Given the description of an element on the screen output the (x, y) to click on. 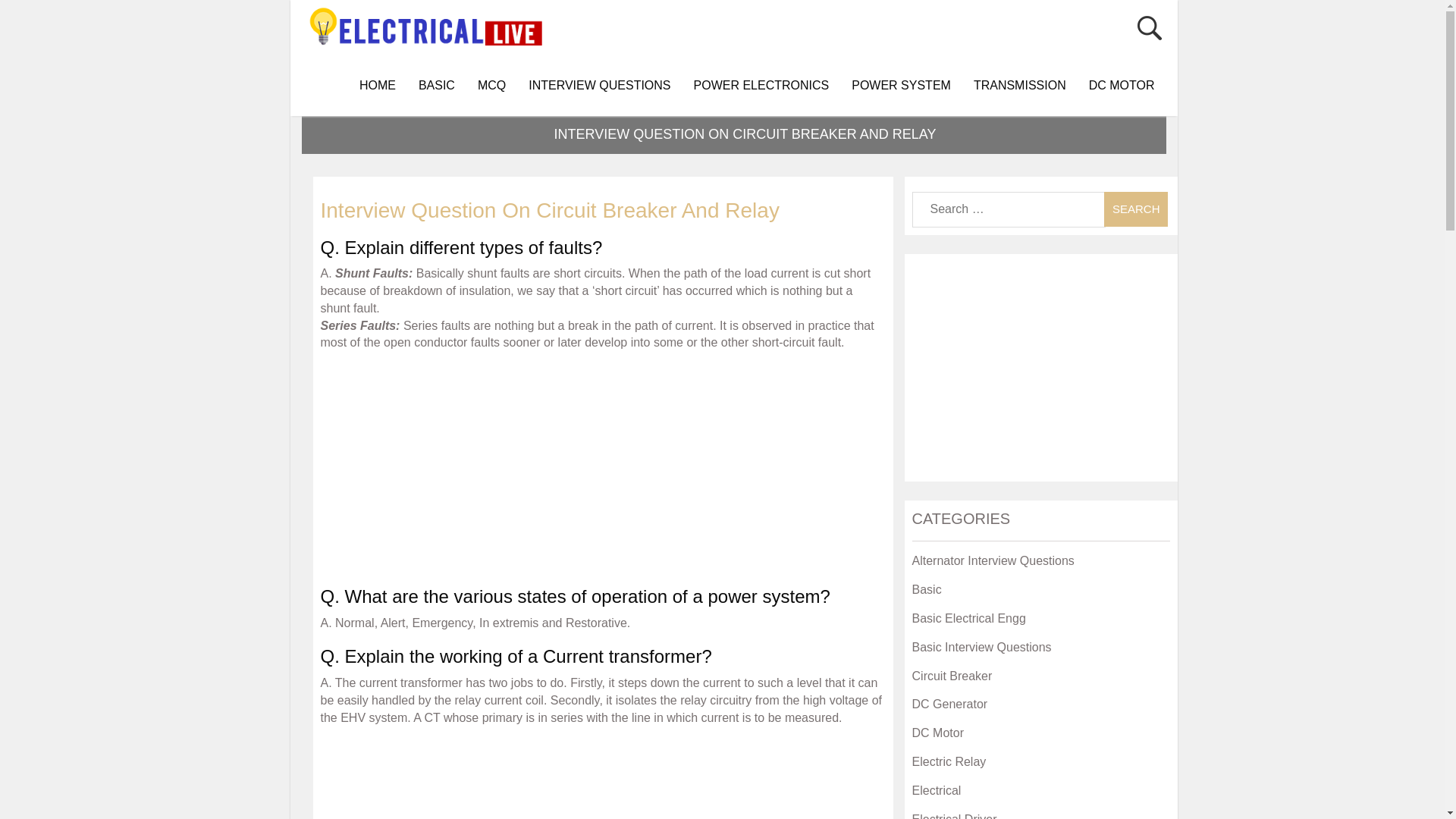
Interview Questions (598, 85)
Interview Question On Circuit Breaker And Relay (549, 210)
BASIC (436, 85)
POWER ELECTRONICS (761, 85)
Home (377, 85)
HOME (377, 85)
Power Electronics (761, 85)
INTERVIEW QUESTIONS (598, 85)
Basic (436, 85)
Advertisement (602, 776)
Advertisement (602, 465)
